Given the description of an element on the screen output the (x, y) to click on. 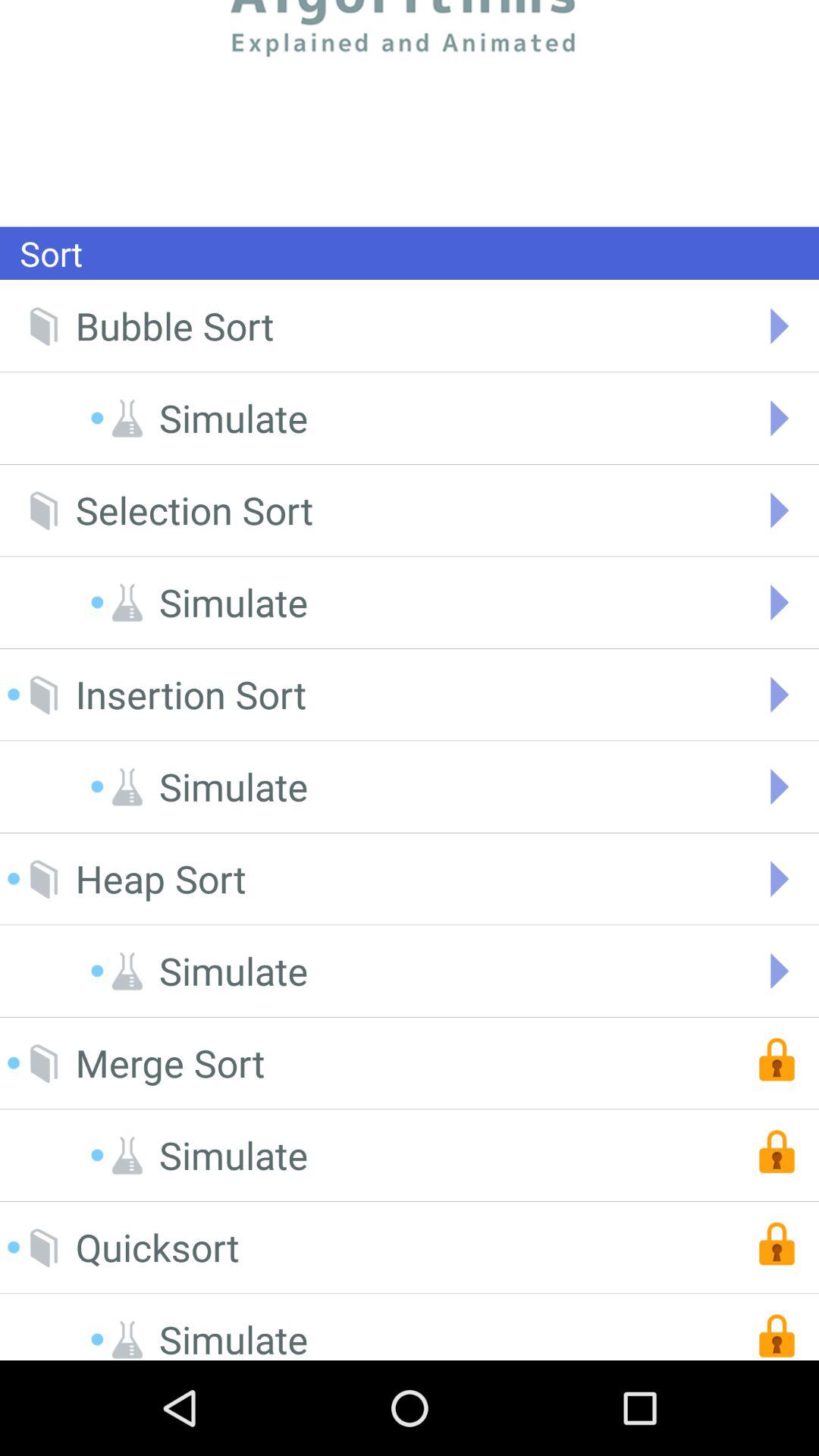
open the item at the top (409, 113)
